Given the description of an element on the screen output the (x, y) to click on. 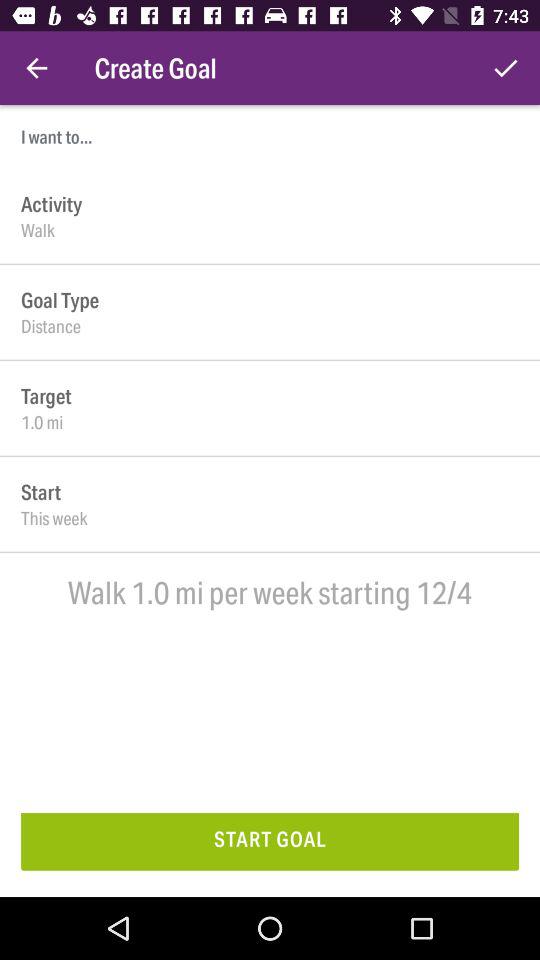
select the icon to the left of the create goal icon (36, 68)
